Given the description of an element on the screen output the (x, y) to click on. 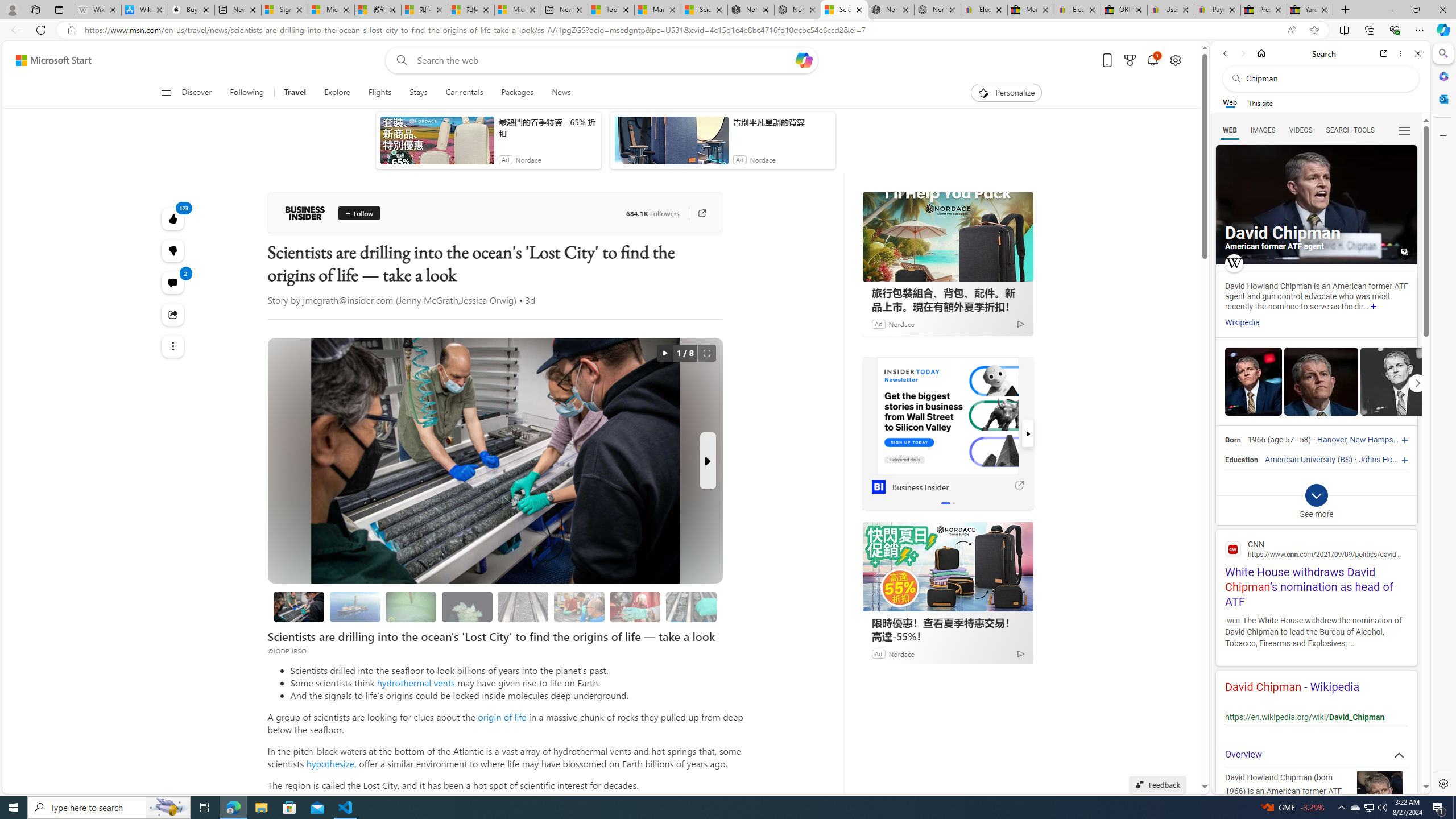
Show more (1373, 307)
Full screen (706, 352)
All images (1315, 204)
Share this story (172, 314)
Flights (379, 92)
